Given the description of an element on the screen output the (x, y) to click on. 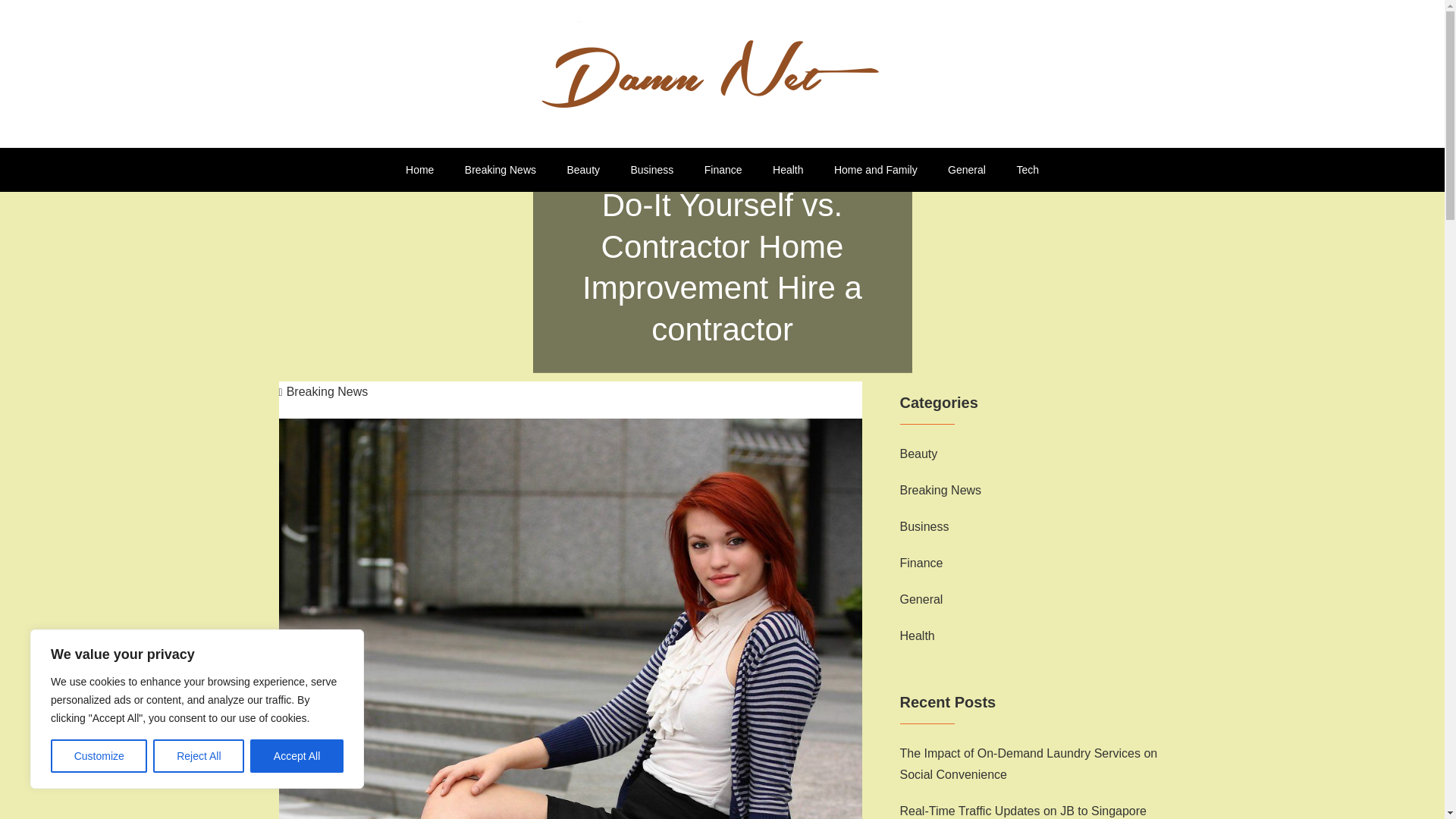
Breaking News (940, 490)
Health (787, 169)
Home and Family (876, 169)
Home (418, 169)
Health (916, 636)
Finance (722, 169)
Beauty (918, 454)
Tech (1027, 169)
Finance (920, 563)
General (920, 599)
Breaking News (500, 169)
Accept All (296, 756)
Breaking News (323, 391)
Business (652, 169)
Beauty (582, 169)
